Given the description of an element on the screen output the (x, y) to click on. 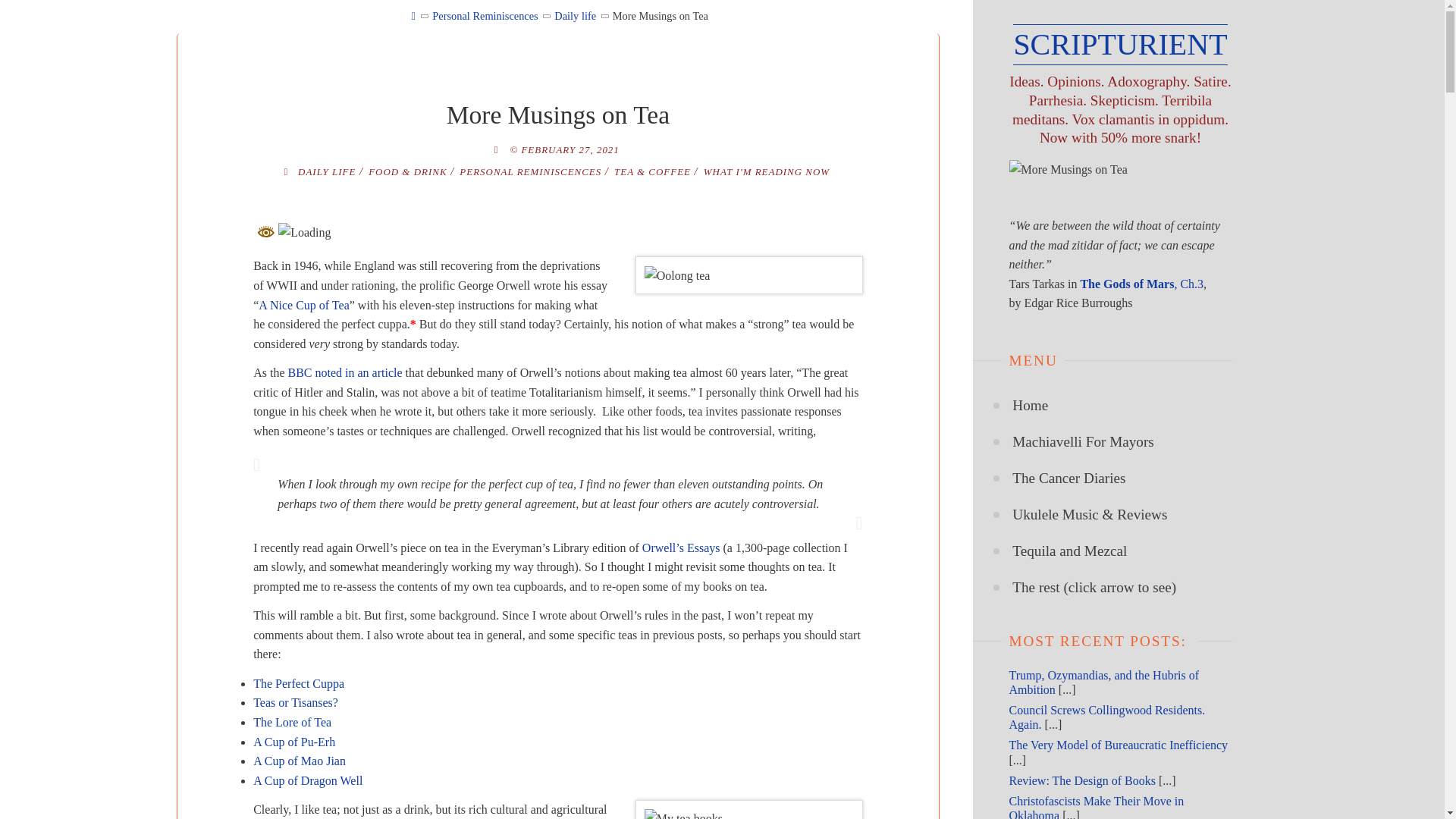
Home (1029, 405)
Review: The Design of Books (1081, 780)
The Cancer Diaries (1068, 478)
SCRIPTURIENT (1120, 44)
The Very Model of Bureaucratic Inefficiency (1118, 744)
Trump, Ozymandias, and the Hubris of Ambition (1103, 682)
Council Screws Collingwood Residents. Again. (1107, 717)
Christofascists Make Their Move in Oklahoma (1096, 806)
Machiavelli For Mayors (1082, 442)
Tequila and Mezcal (1068, 551)
The Gods of Mars, Ch.3 (1142, 283)
